Given the description of an element on the screen output the (x, y) to click on. 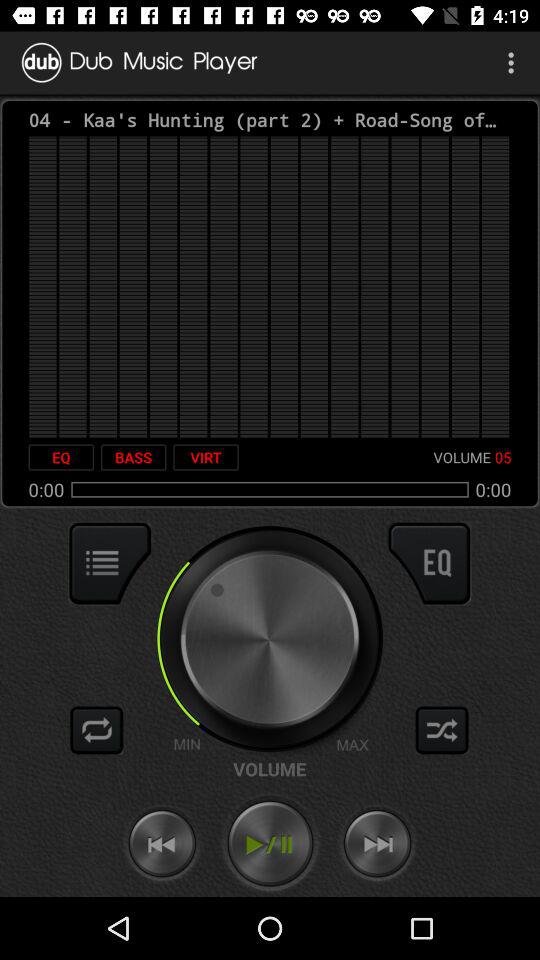
go to next track (377, 844)
